Given the description of an element on the screen output the (x, y) to click on. 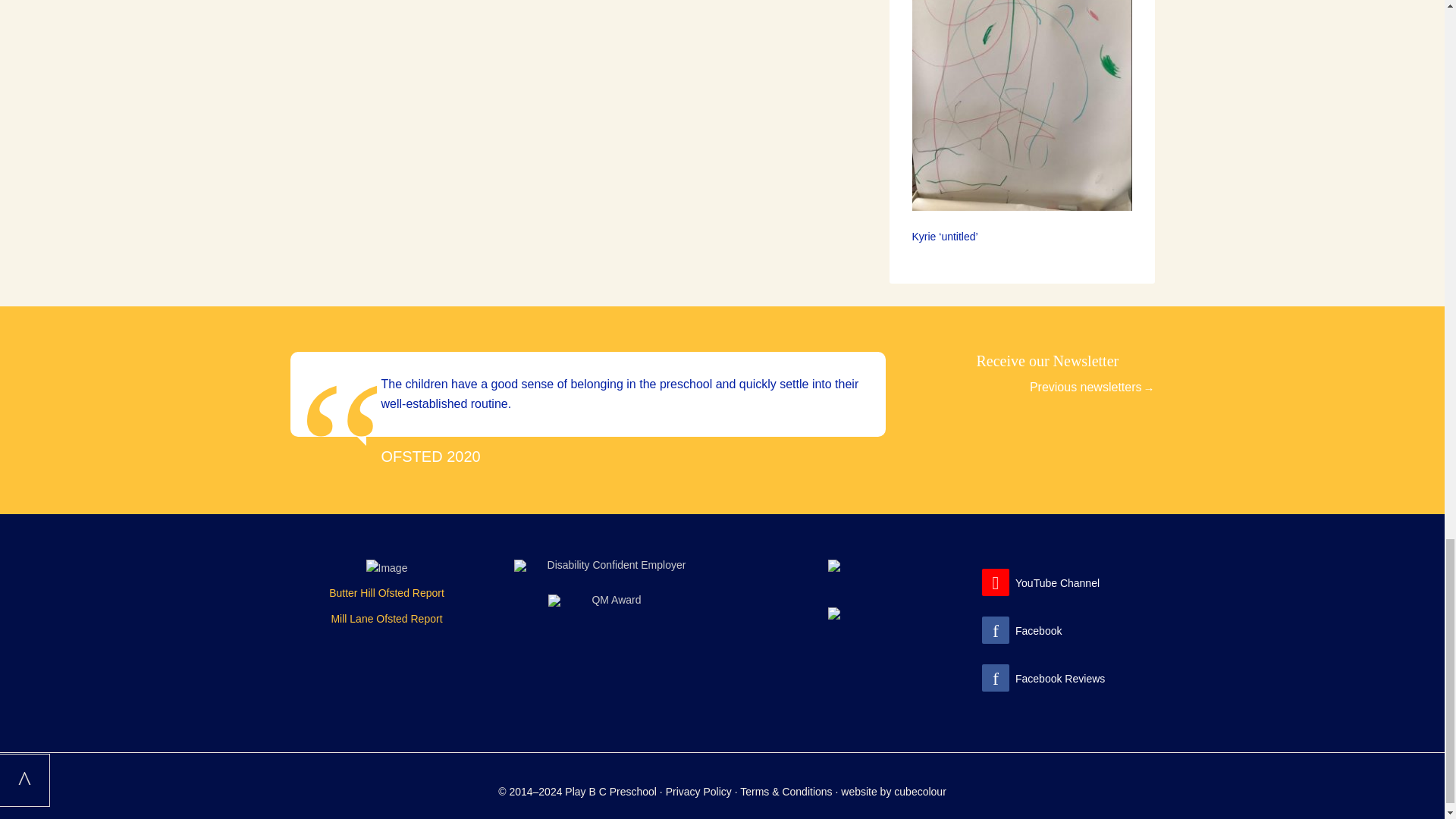
OFSTED 2020 (430, 456)
Mill Lane Ofsted Report (386, 618)
Previous newsletters (1091, 386)
Butter Hill Ofsted Report (386, 592)
